Given the description of an element on the screen output the (x, y) to click on. 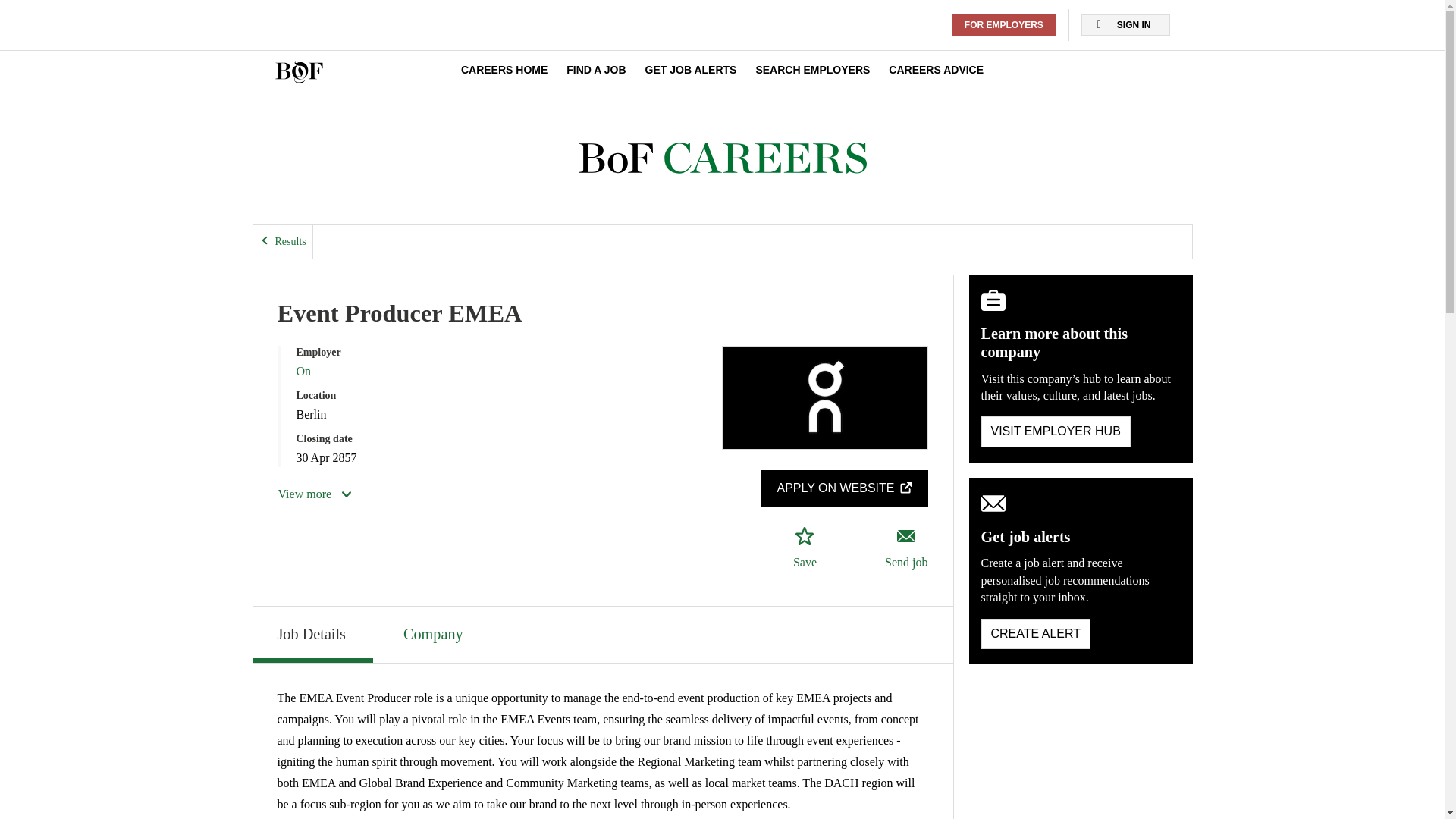
Results (283, 241)
SEARCH EMPLOYERS (812, 69)
View more (315, 493)
FIND A JOB (596, 69)
FOR EMPLOYERS (1004, 25)
Company (434, 632)
BoF Careers (722, 158)
VISIT EMPLOYER HUB (1056, 431)
On (303, 370)
GET JOB ALERTS (690, 69)
